Given the description of an element on the screen output the (x, y) to click on. 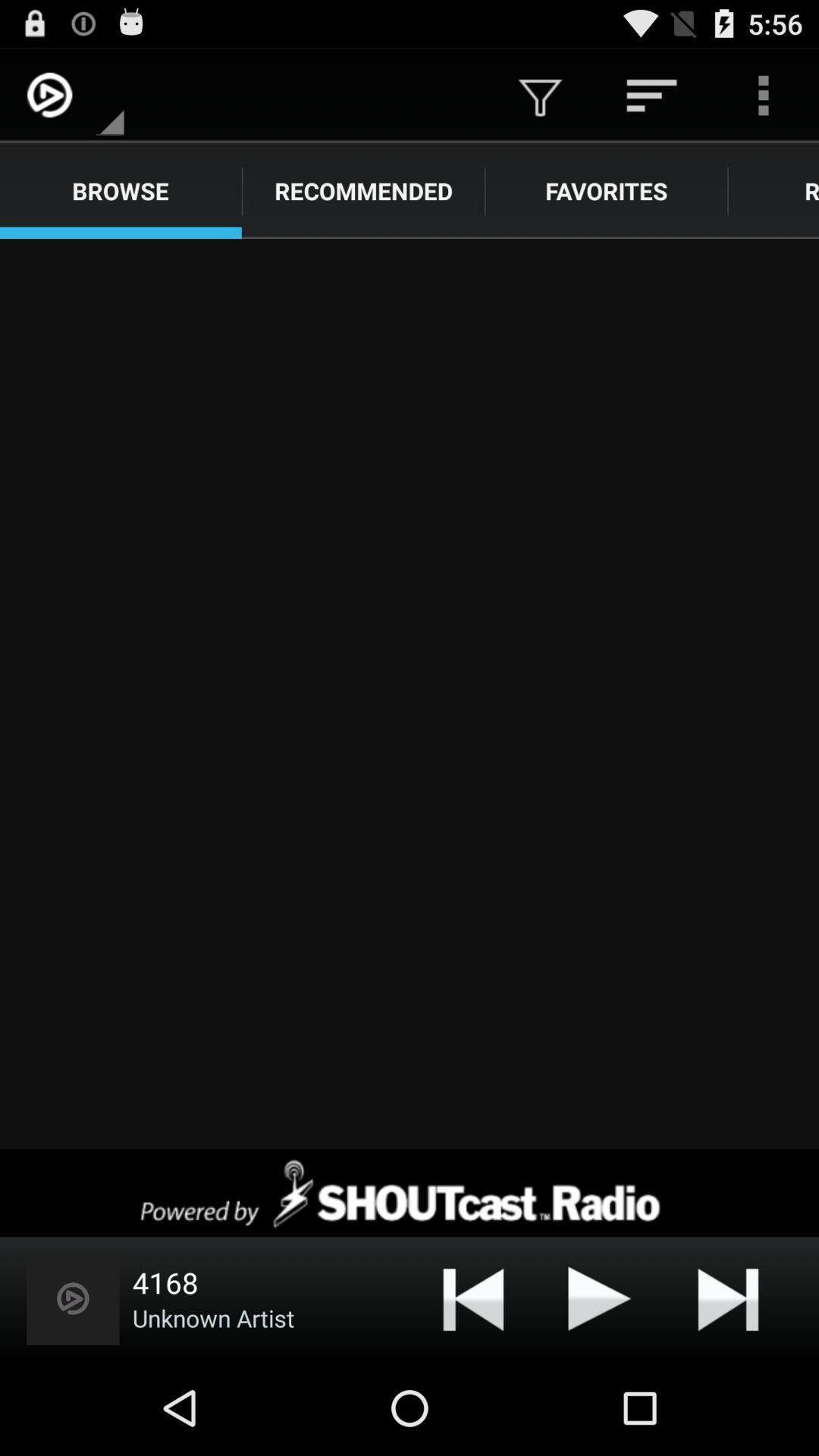
skip to next track (728, 1298)
